Given the description of an element on the screen output the (x, y) to click on. 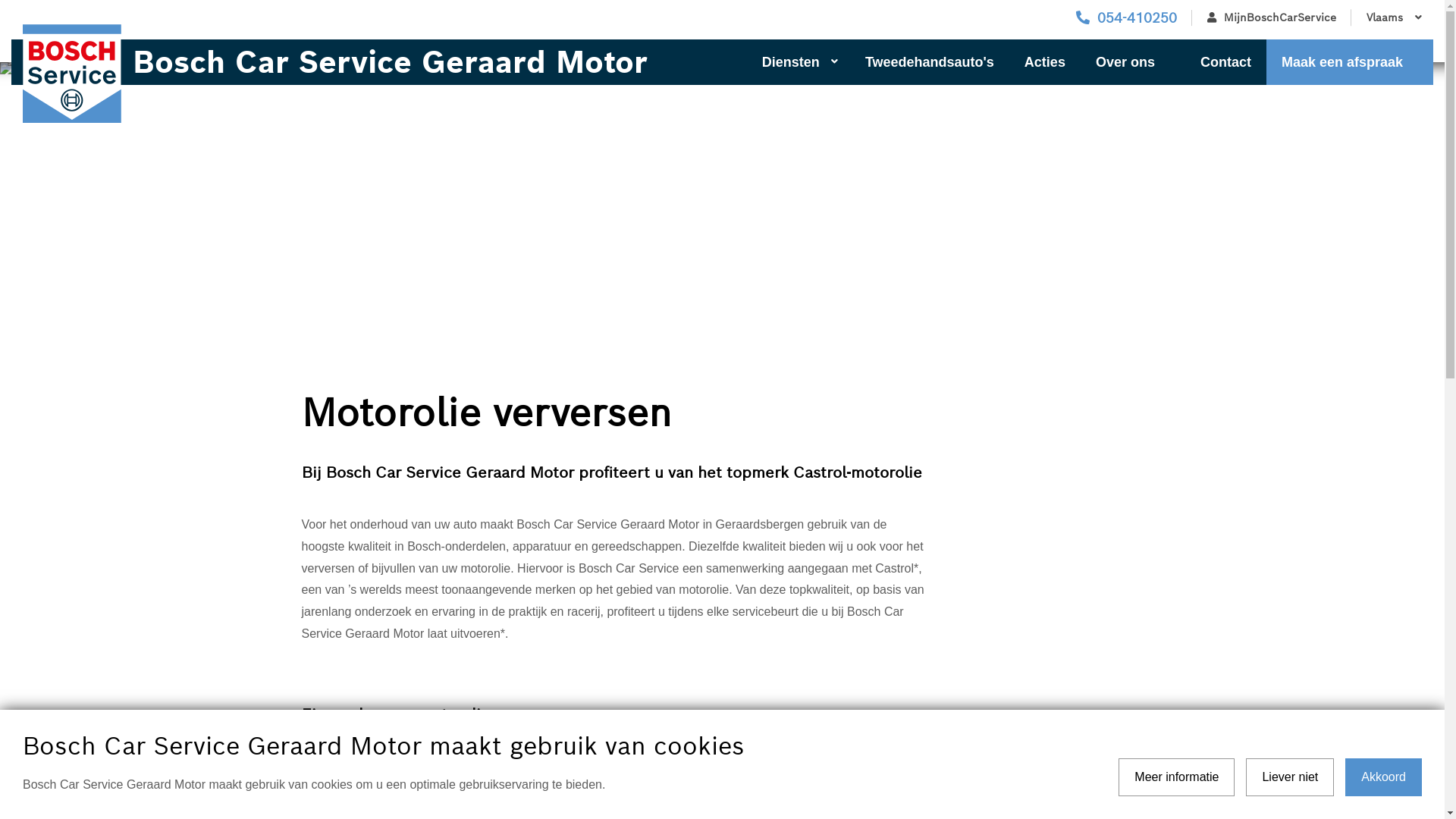
Diensten Element type: text (798, 61)
Skip to main content Element type: text (0, 0)
Liever niet Element type: text (1289, 777)
054-410250 Element type: text (1126, 17)
Bosch Car Service Geraard Motor Element type: text (359, 61)
Over ons Element type: text (1132, 61)
Tweedehandsauto's Element type: text (929, 61)
Akkoord Element type: text (1383, 777)
Meer informatie Element type: text (1176, 777)
Vlaams Element type: text (1392, 17)
Acties Element type: text (1044, 61)
Contact Element type: text (1225, 61)
Maak een afspraak Element type: text (1349, 61)
MijnBoschCarService Element type: text (1271, 17)
